Given the description of an element on the screen output the (x, y) to click on. 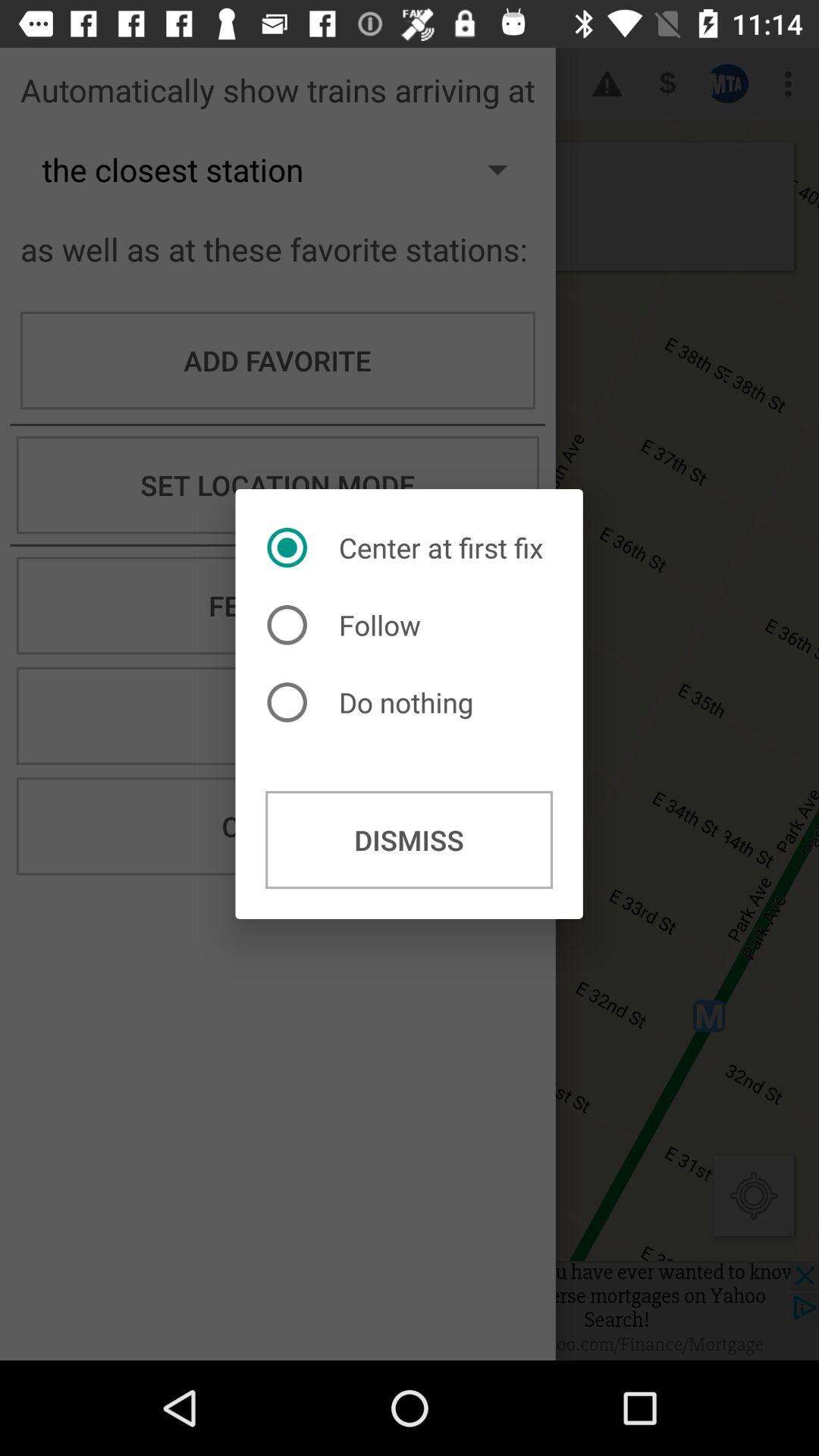
choose the radio button above the do nothing (347, 624)
